Given the description of an element on the screen output the (x, y) to click on. 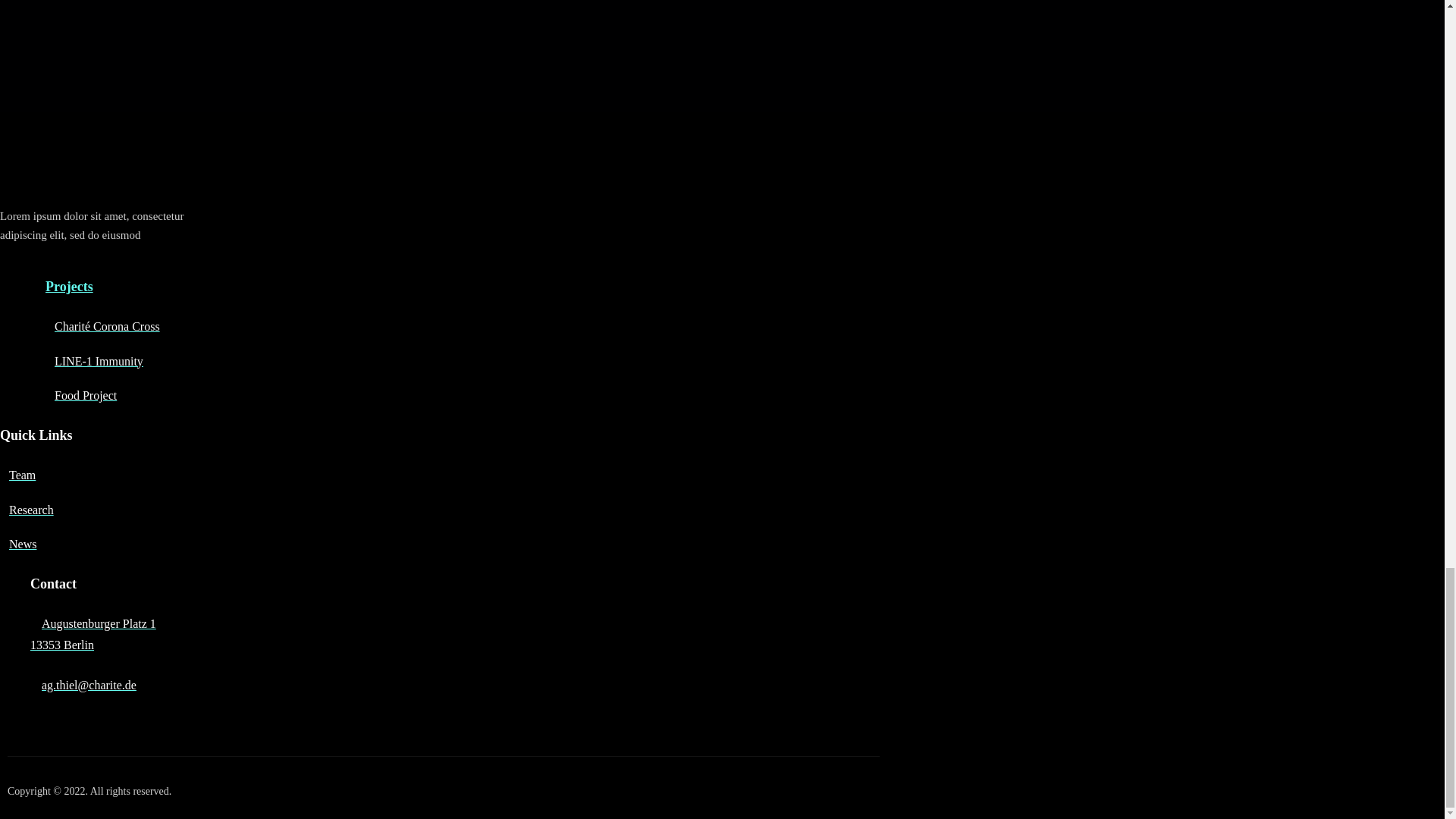
LINE-1 Immunity (93, 360)
Research (26, 509)
Projects (69, 286)
News (18, 543)
Team (92, 633)
Food Project (17, 474)
